Given the description of an element on the screen output the (x, y) to click on. 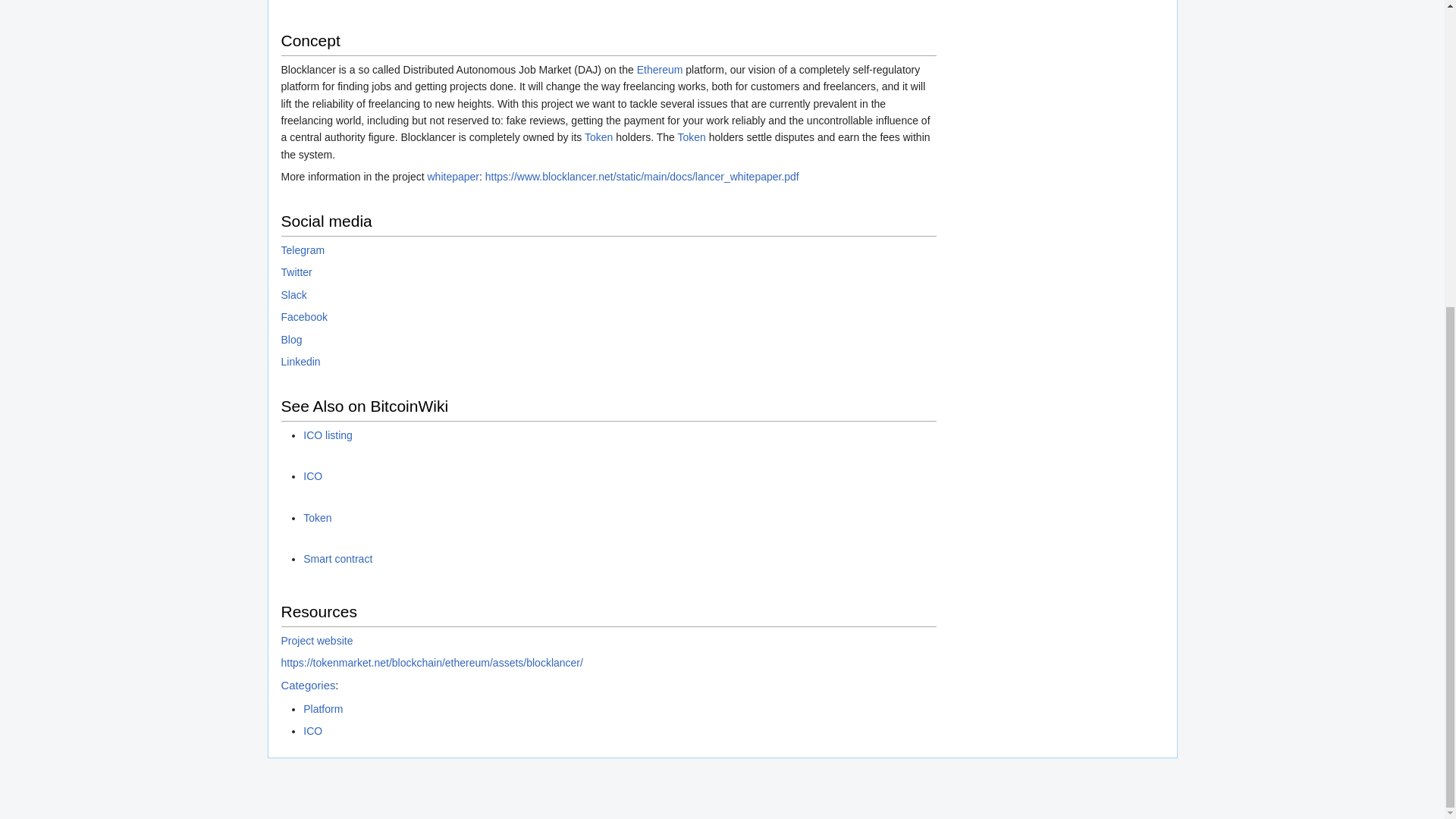
ICO listing (327, 435)
Blog (291, 339)
Smart contract (337, 558)
Special:Categories (307, 685)
Slack (293, 295)
Facebook (303, 316)
Token (598, 137)
ICO (290, 1)
Category:ICO (311, 730)
Categories (307, 685)
